Given the description of an element on the screen output the (x, y) to click on. 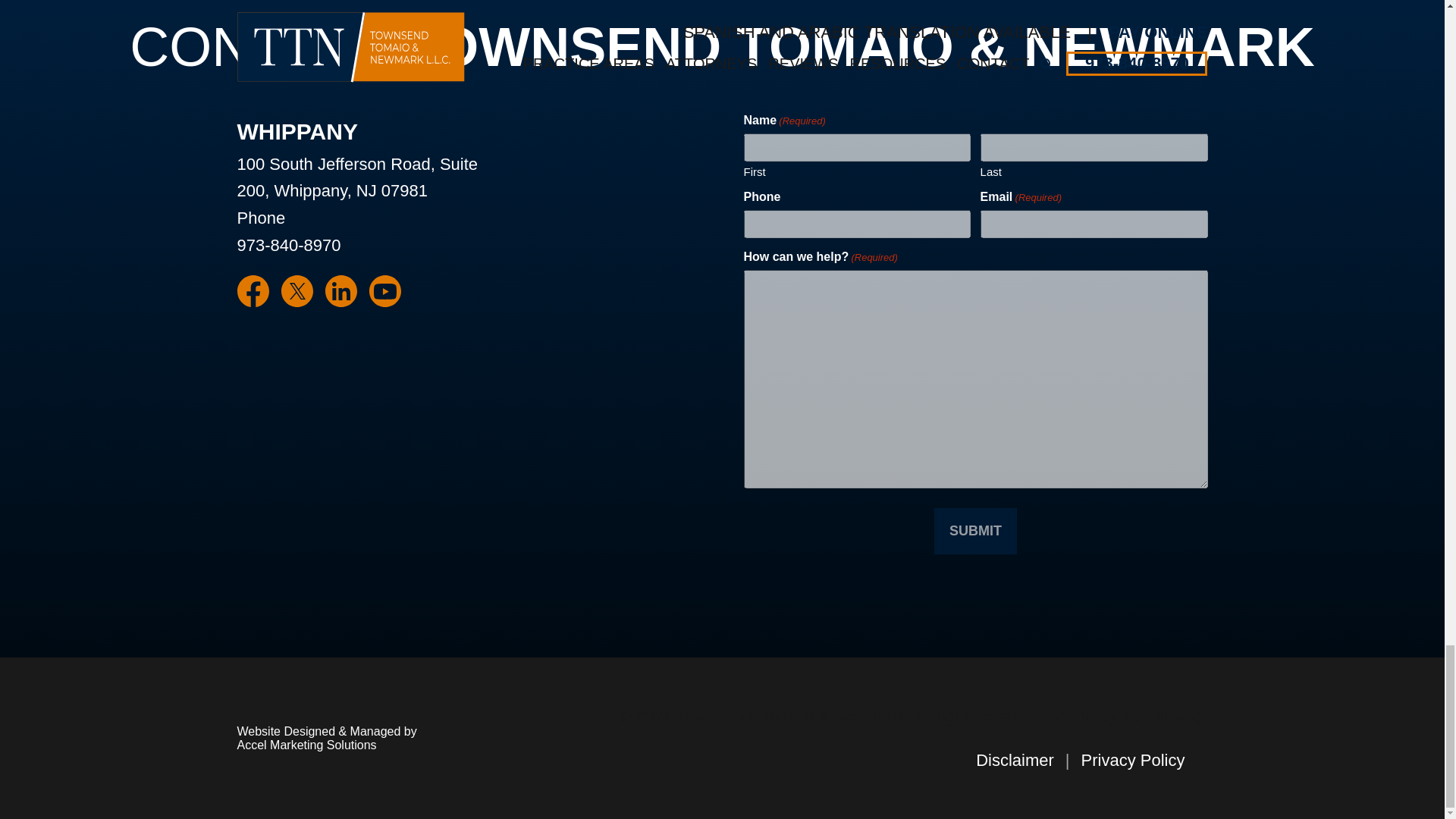
Submit (975, 530)
